Given the description of an element on the screen output the (x, y) to click on. 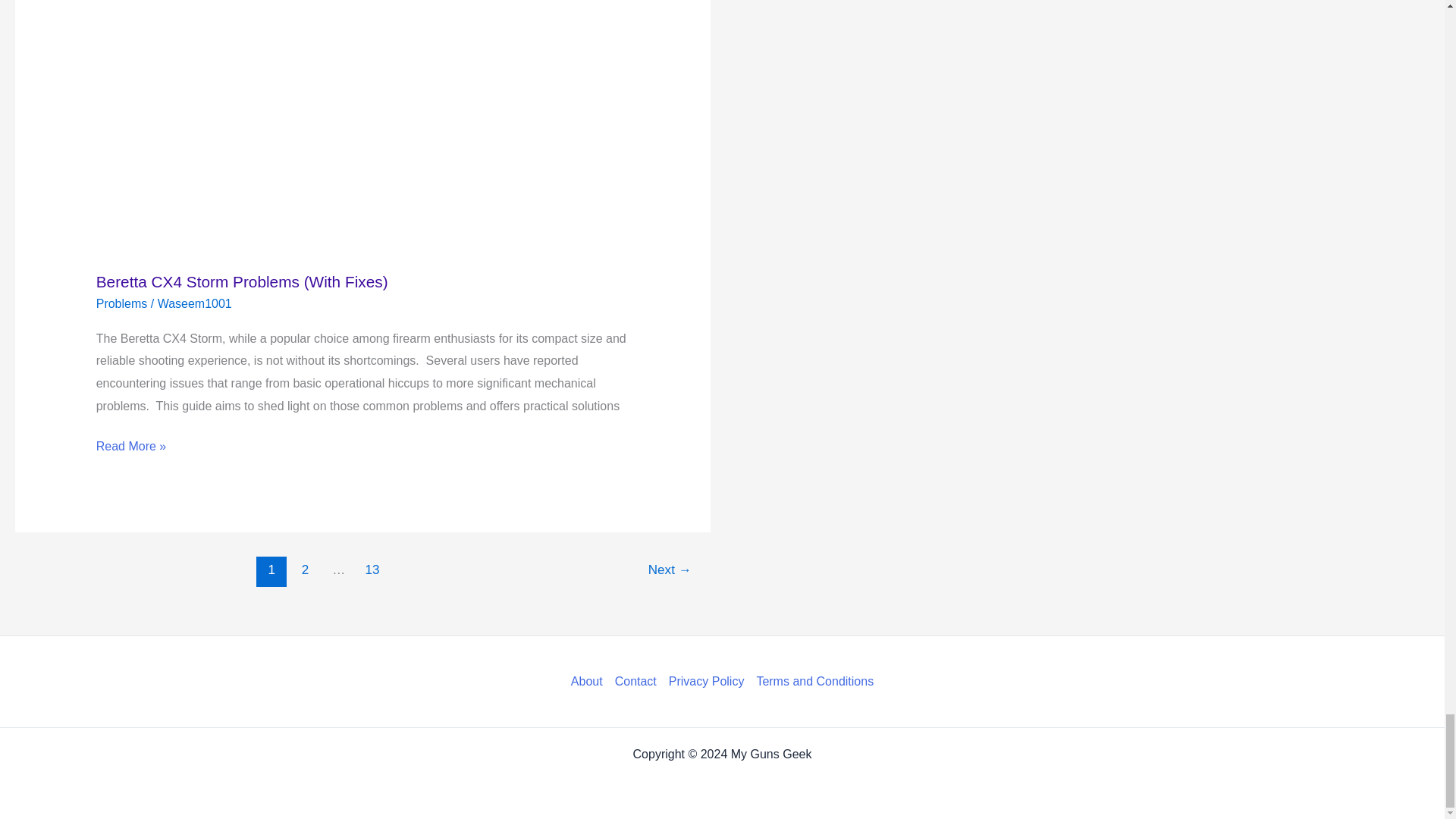
View all posts by Waseem1001 (194, 303)
